Given the description of an element on the screen output the (x, y) to click on. 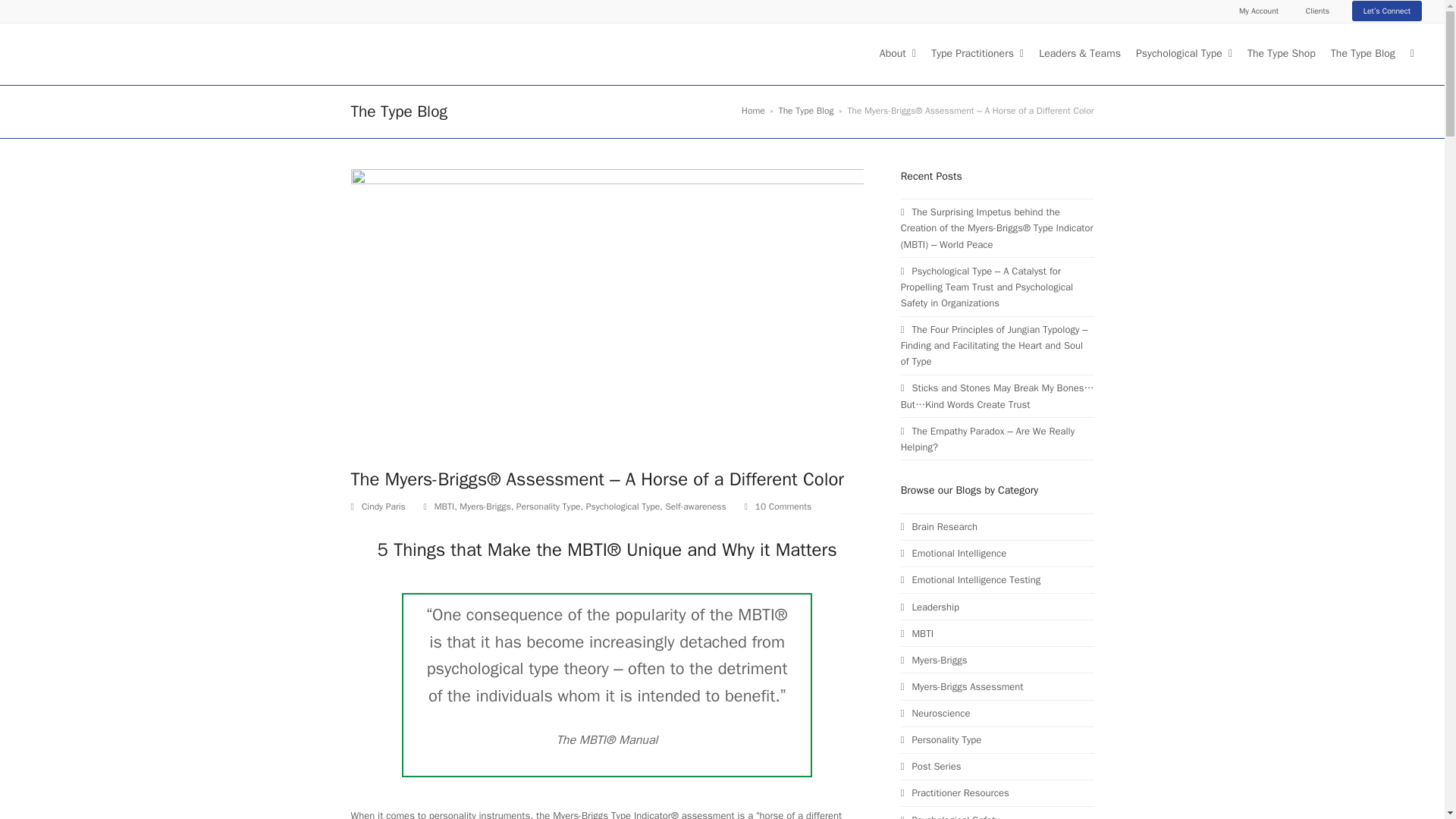
Myers-Briggs (485, 506)
Psychological Type (1183, 53)
Personality Type (548, 506)
MBTI (443, 506)
Self-awareness (695, 506)
About (897, 53)
10 Comments (782, 507)
The Type Shop (1281, 53)
Type Practitioners (977, 53)
Cindy Paris (383, 506)
